Given the description of an element on the screen output the (x, y) to click on. 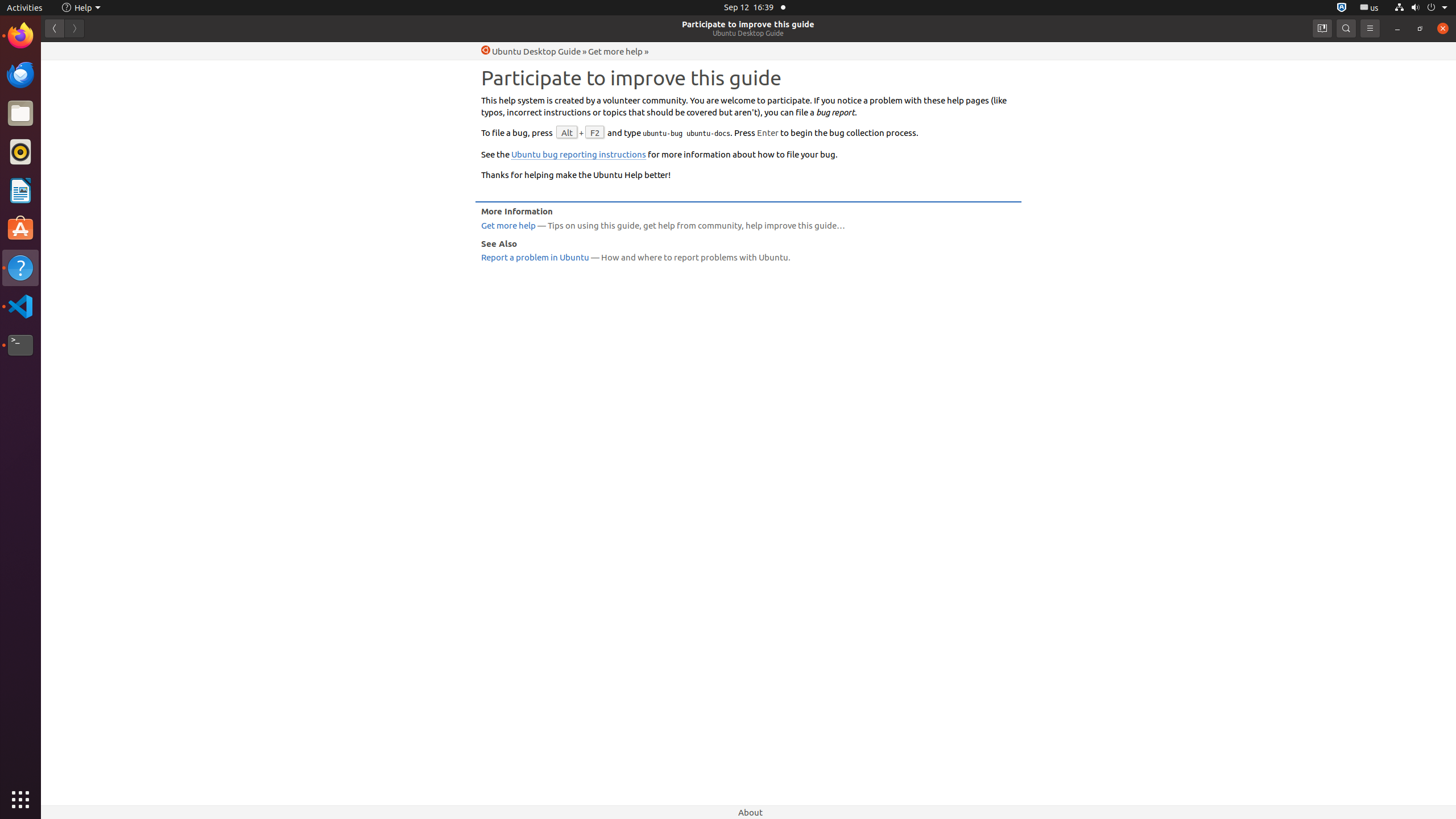
Minimize Element type: push-button (1397, 27)
